Given the description of an element on the screen output the (x, y) to click on. 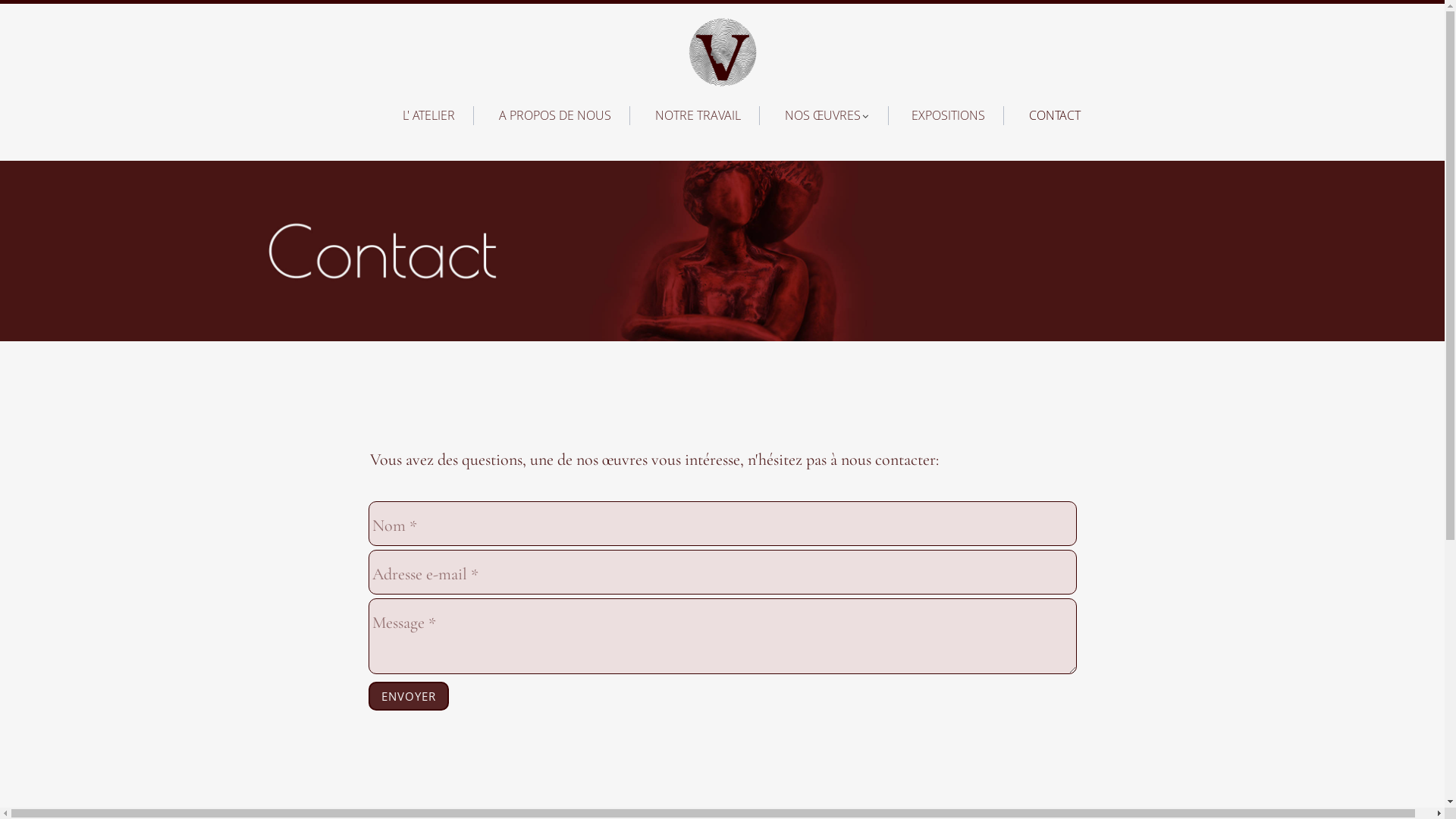
NOTRE TRAVAIL Element type: text (698, 111)
L' ATELIER Element type: text (430, 111)
ENVOYER Element type: text (408, 695)
CONTACT Element type: text (1054, 111)
EXPOSITIONS Element type: text (948, 111)
A PROPOS DE NOUS Element type: text (555, 111)
